Given the description of an element on the screen output the (x, y) to click on. 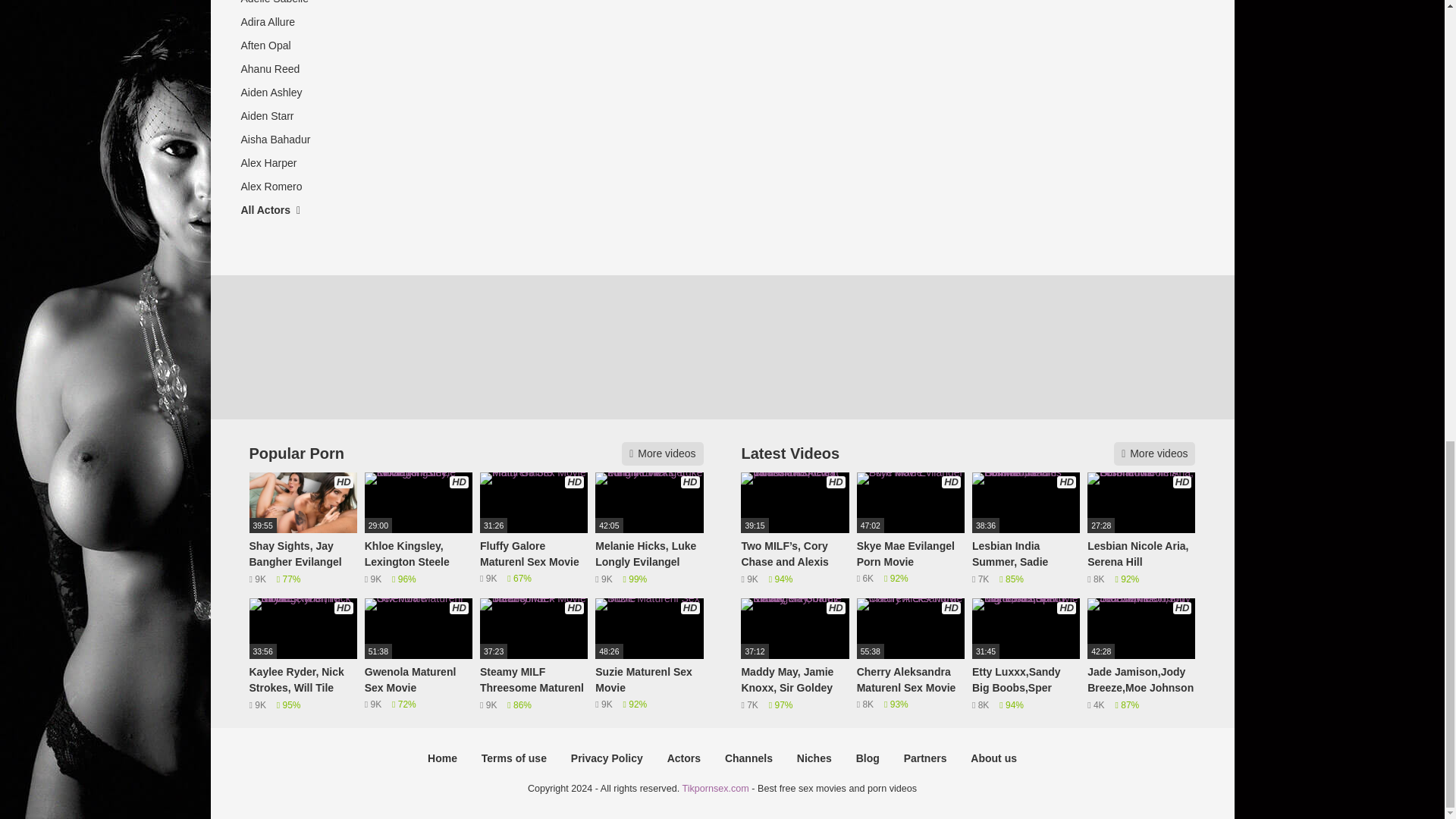
Khloe Kingsley, Lexington Steele Evilangel Porn Movie (418, 529)
Kaylee Ryder, Nick Strokes, Will Tile Evilangel Porn Movie (302, 654)
All actors (285, 210)
Melanie Hicks, Luke Longly Evilangel Porn Movie (649, 529)
Adelle Sabelle (285, 5)
Suzie Maturenl Sex Movie (649, 654)
Adira Allure (285, 22)
Gwenola Maturenl Sex Movie (418, 654)
Steamy MILF Threesome Maturenl Sex Movie (534, 654)
Fluffy Galore Maturenl Sex Movie (534, 529)
Shay Sights, Jay Bangher Evilangel Porn Movie (302, 529)
